Given the description of an element on the screen output the (x, y) to click on. 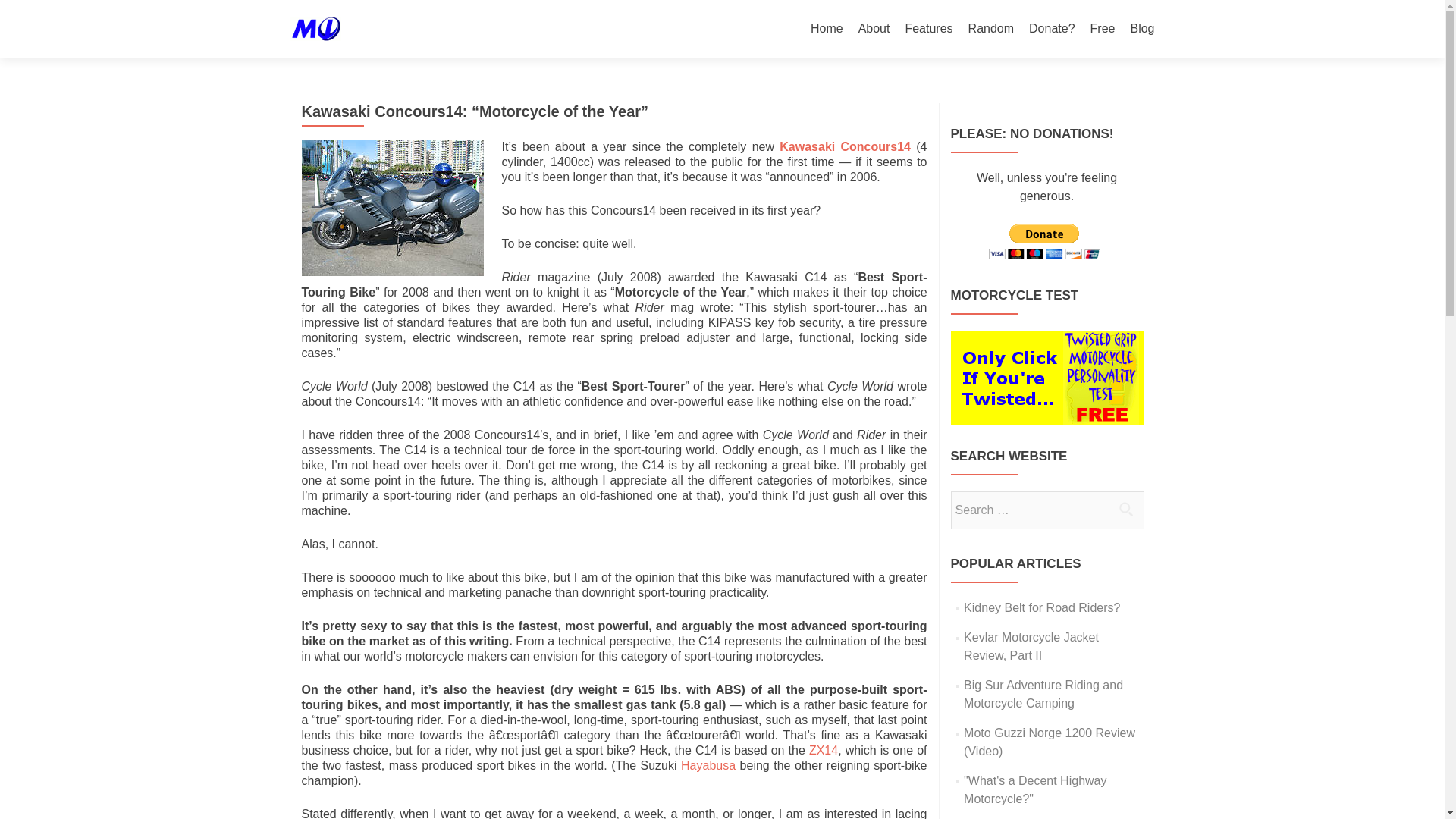
Blog (1141, 28)
Home (826, 28)
Search (1125, 508)
Kawasaki Concours14 (844, 146)
Kidney Belt for Road Riders? (1041, 607)
ZX14 (823, 749)
Hayabusa (710, 765)
Kawasaki ZX14 (823, 749)
Free (1102, 28)
About (874, 28)
